Given the description of an element on the screen output the (x, y) to click on. 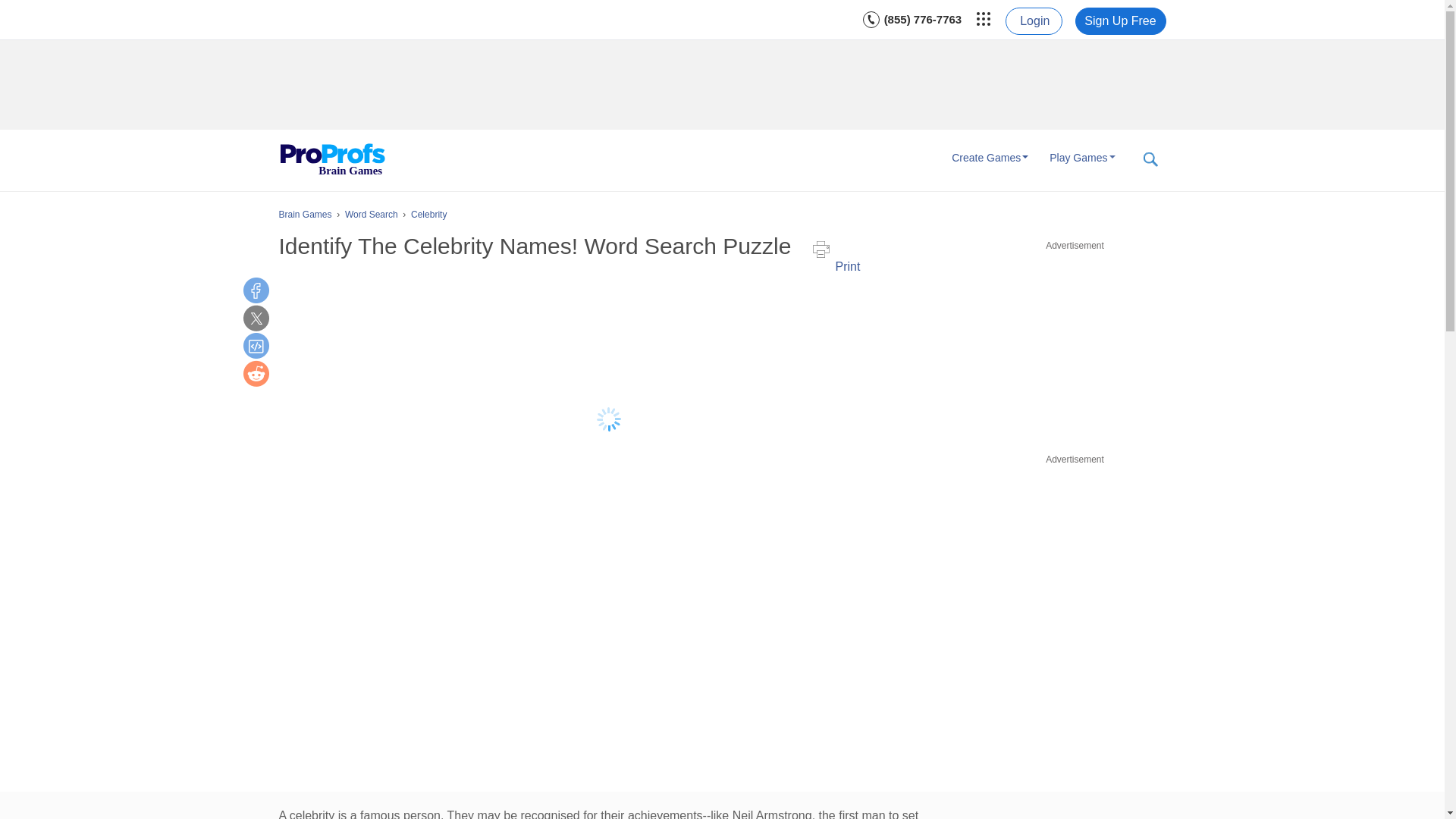
Brain Games (332, 160)
printer Created with Sketch. (820, 248)
Sign Up Free (1120, 21)
Brain Games (332, 160)
Sign Up Free (1120, 21)
Login (1033, 21)
Login (1033, 21)
